Given the description of an element on the screen output the (x, y) to click on. 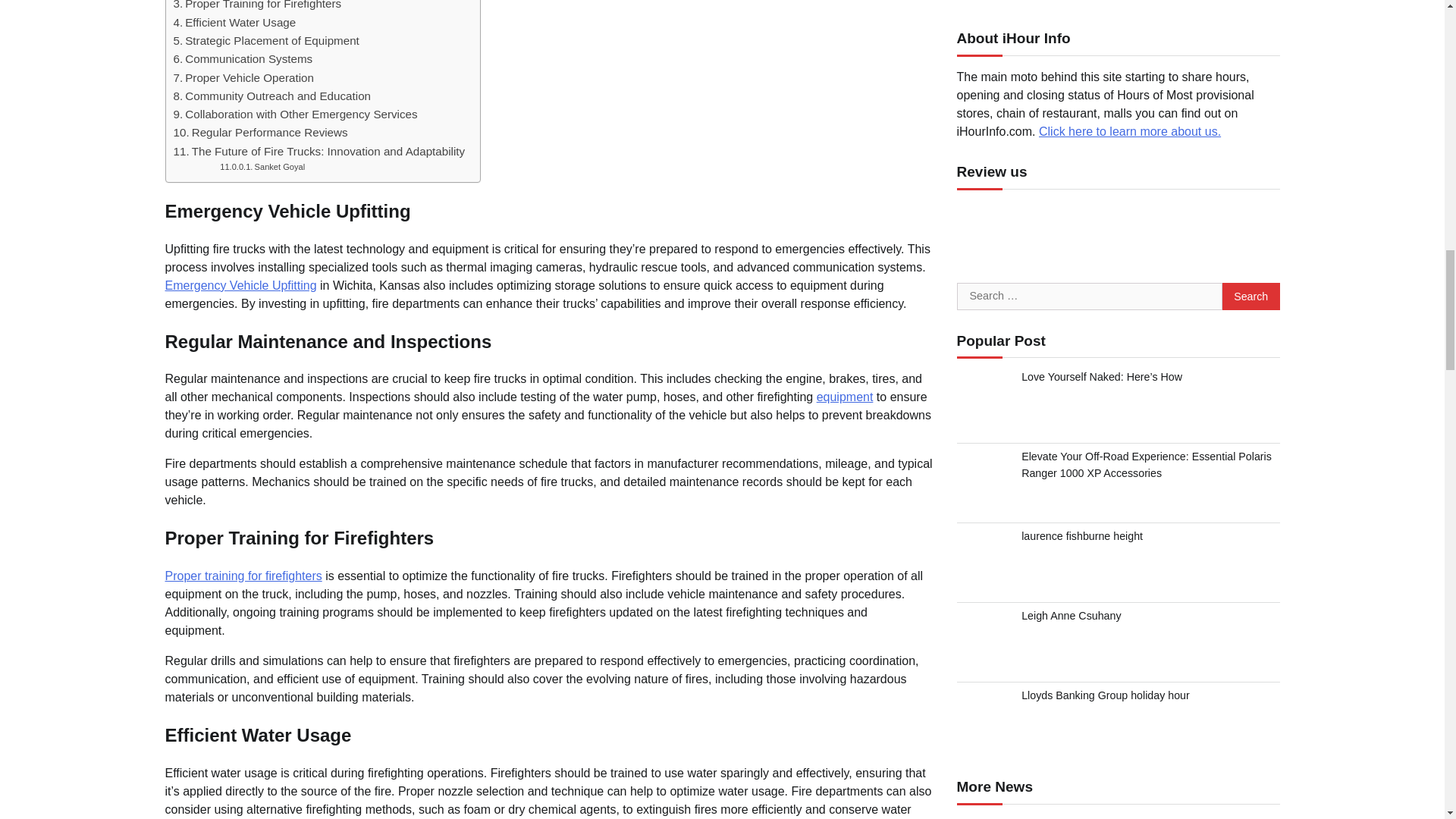
Efficient Water Usage (234, 22)
Emergency Vehicle Upfitting (241, 285)
Regular Performance Reviews (260, 132)
Communication Systems (243, 58)
Strategic Placement of Equipment (265, 40)
Proper Training for Firefighters (256, 6)
Strategic Placement of Equipment (265, 40)
equipment (844, 396)
The Future of Fire Trucks: Innovation and Adaptability (318, 151)
Collaboration with Other Emergency Services (294, 114)
